Given the description of an element on the screen output the (x, y) to click on. 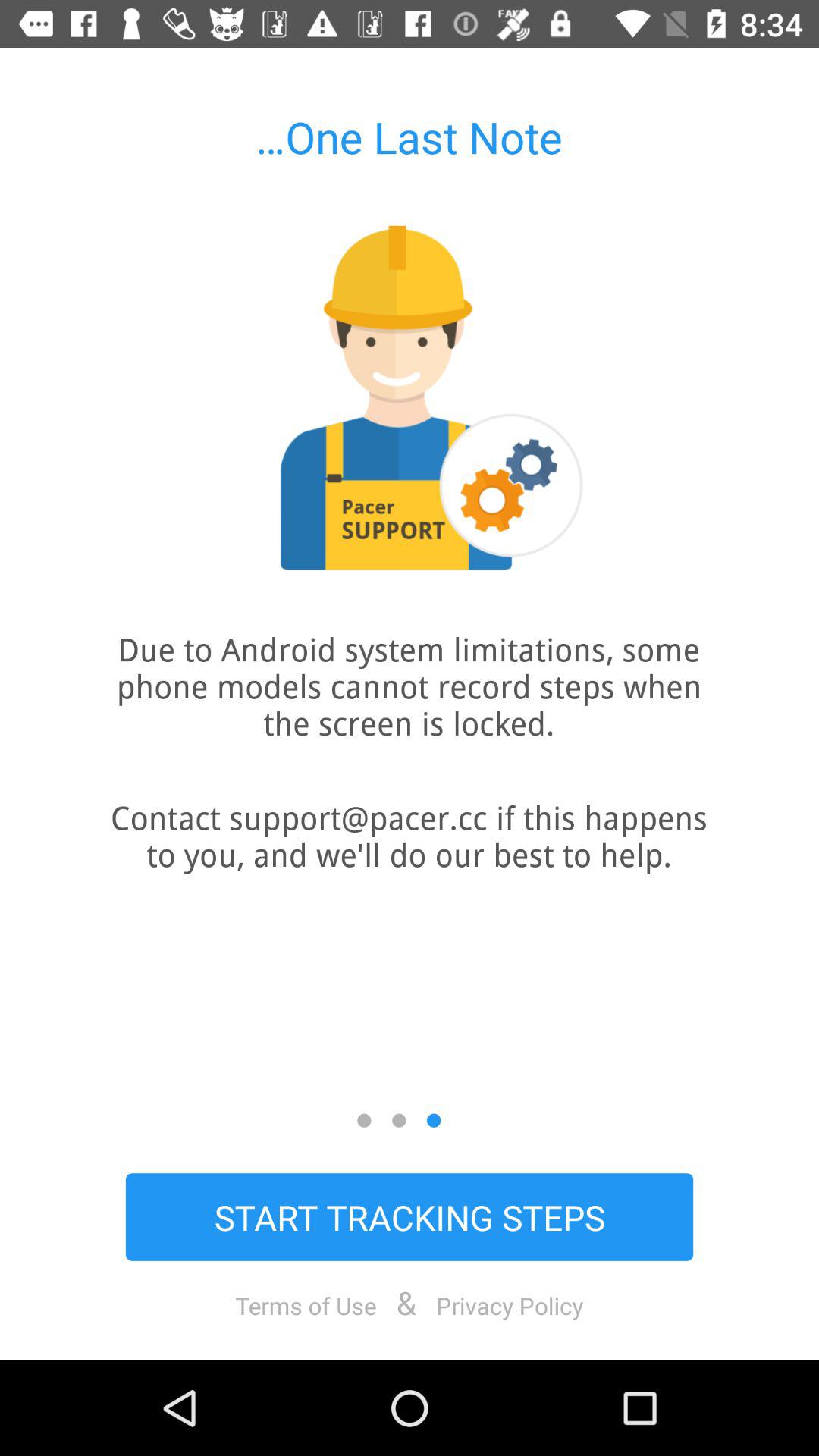
turn on item next to & item (509, 1305)
